Given the description of an element on the screen output the (x, y) to click on. 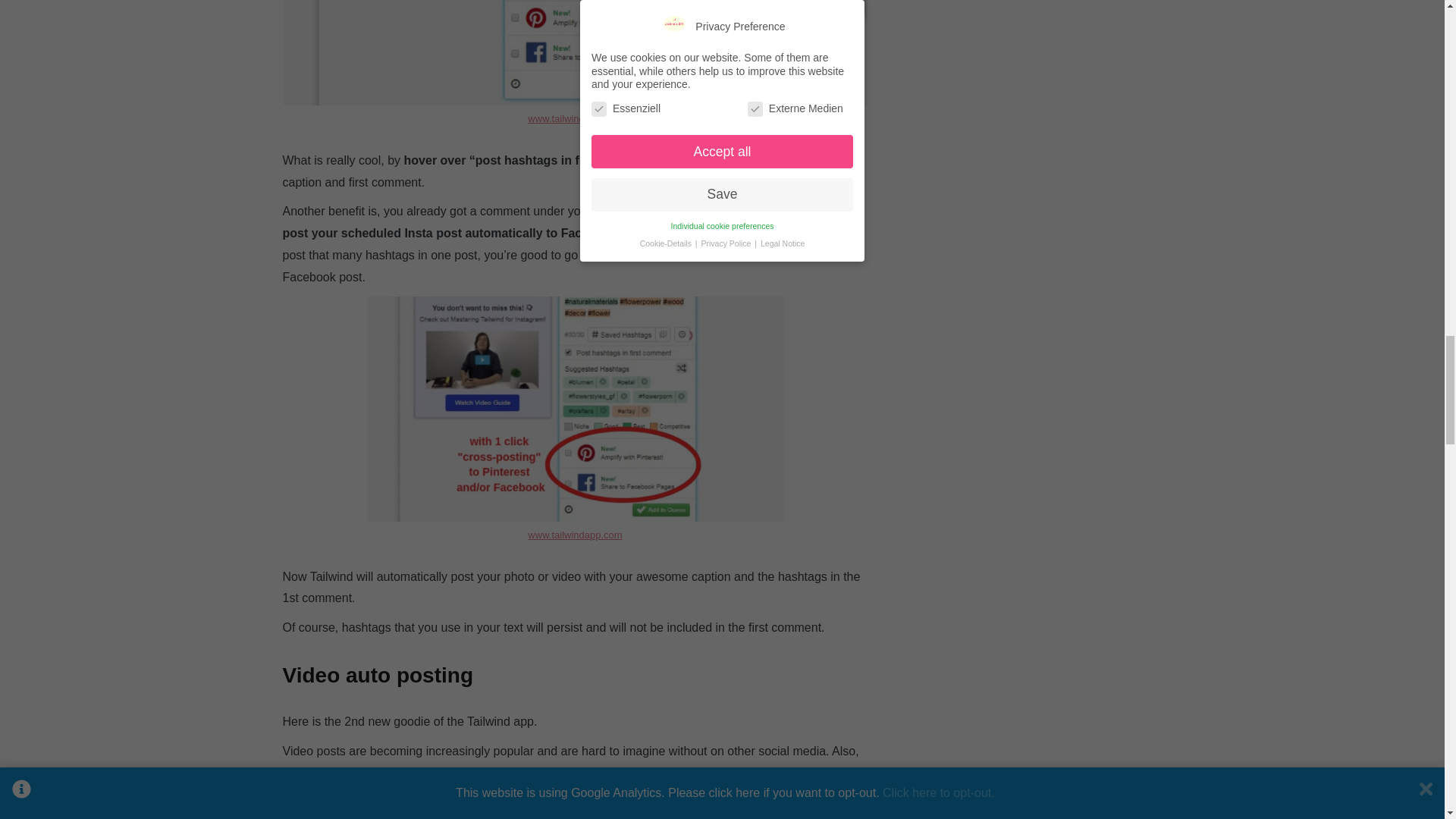
www.tailwindapp.com (574, 534)
www.tailwindapp.com (574, 118)
